Given the description of an element on the screen output the (x, y) to click on. 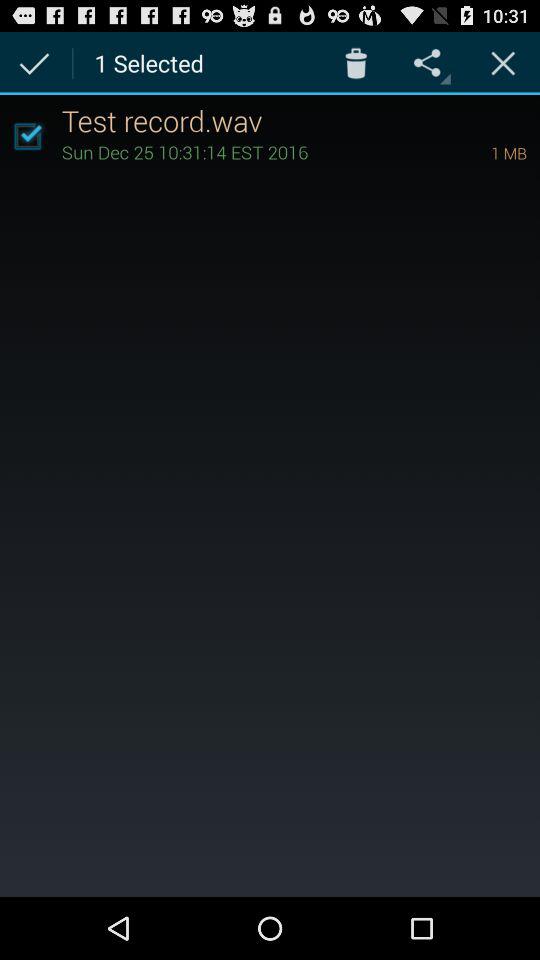
press the sun dec 25 icon (248, 151)
